Given the description of an element on the screen output the (x, y) to click on. 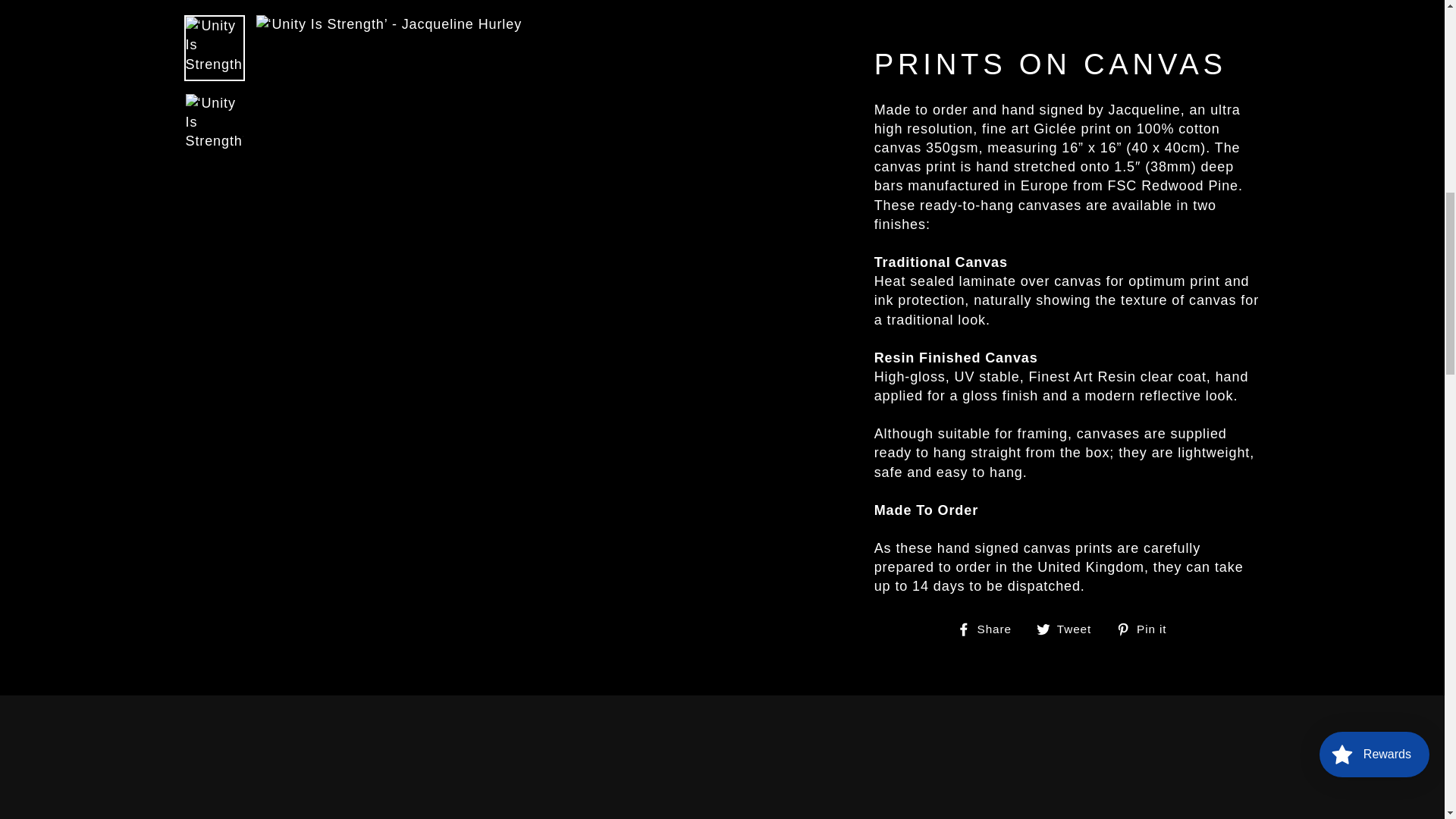
Pin on Pinterest (1146, 628)
Tweet on Twitter (1069, 628)
Share on Facebook (989, 628)
